Given the description of an element on the screen output the (x, y) to click on. 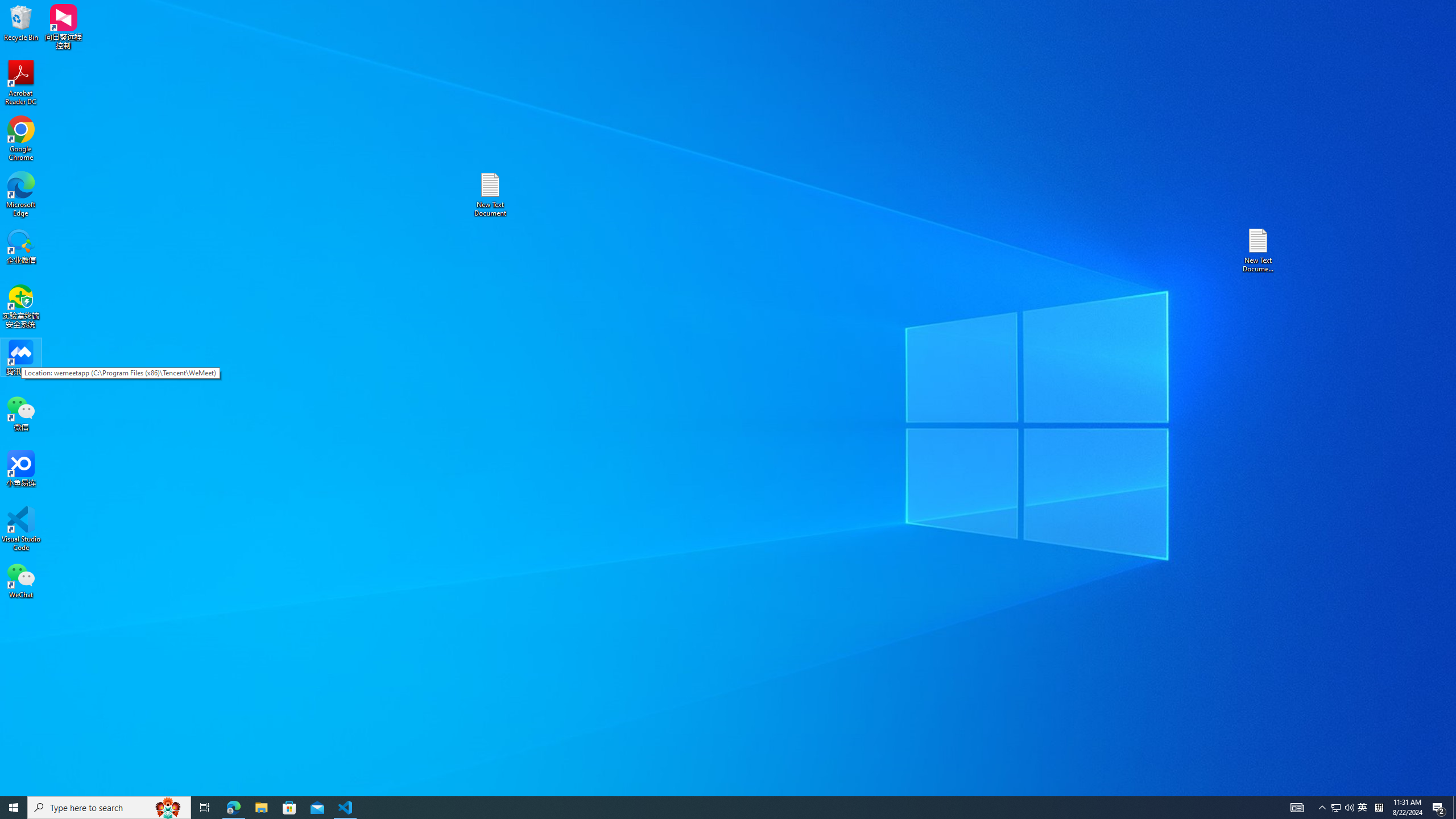
New Text Document (2) (1258, 250)
